Given the description of an element on the screen output the (x, y) to click on. 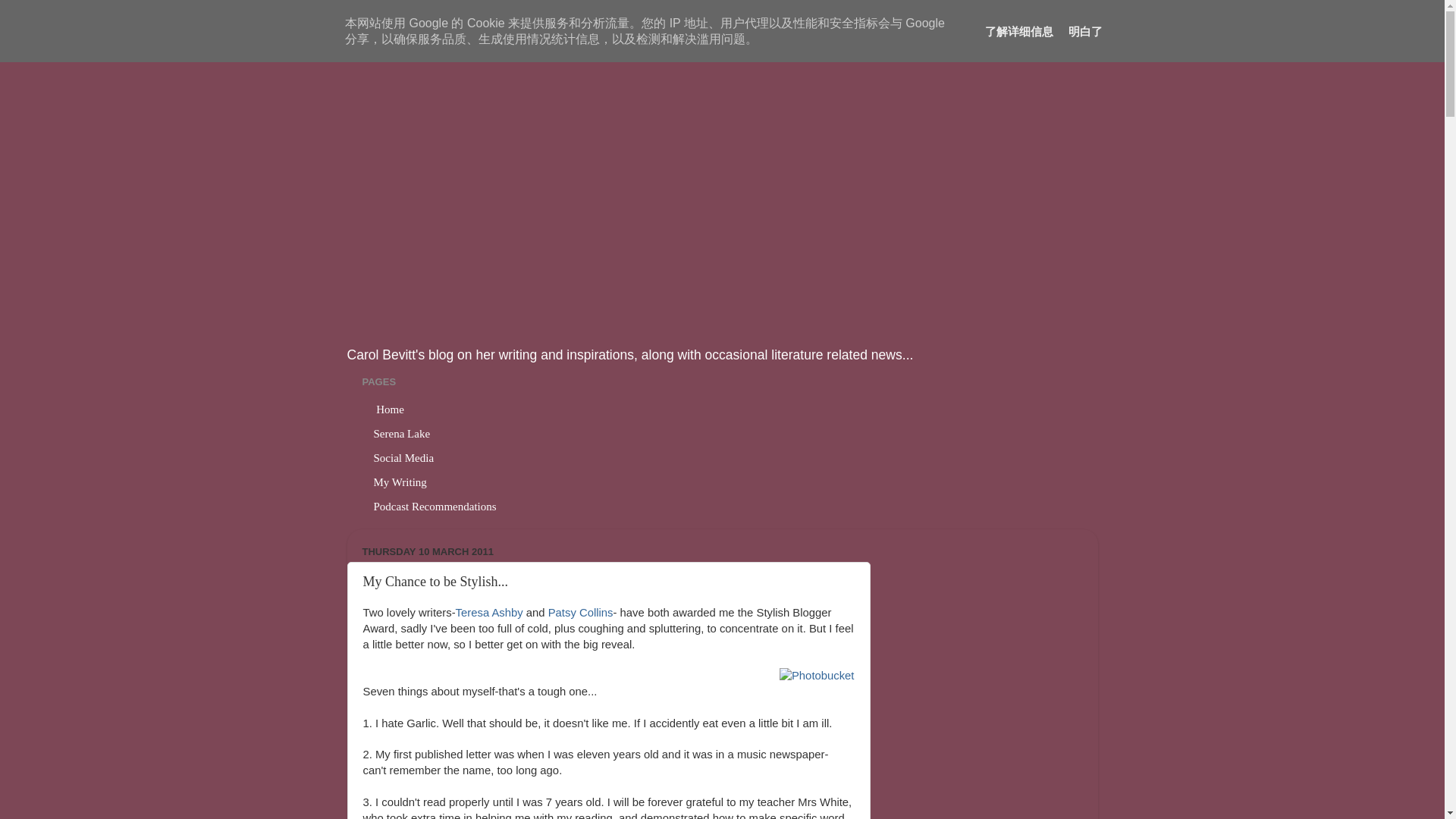
Serena Lake (402, 434)
My Writing (400, 482)
Home (389, 410)
Patsy Collins (580, 612)
Social Media (404, 458)
Podcast Recommendations (435, 507)
Teresa Ashby (490, 612)
